Given the description of an element on the screen output the (x, y) to click on. 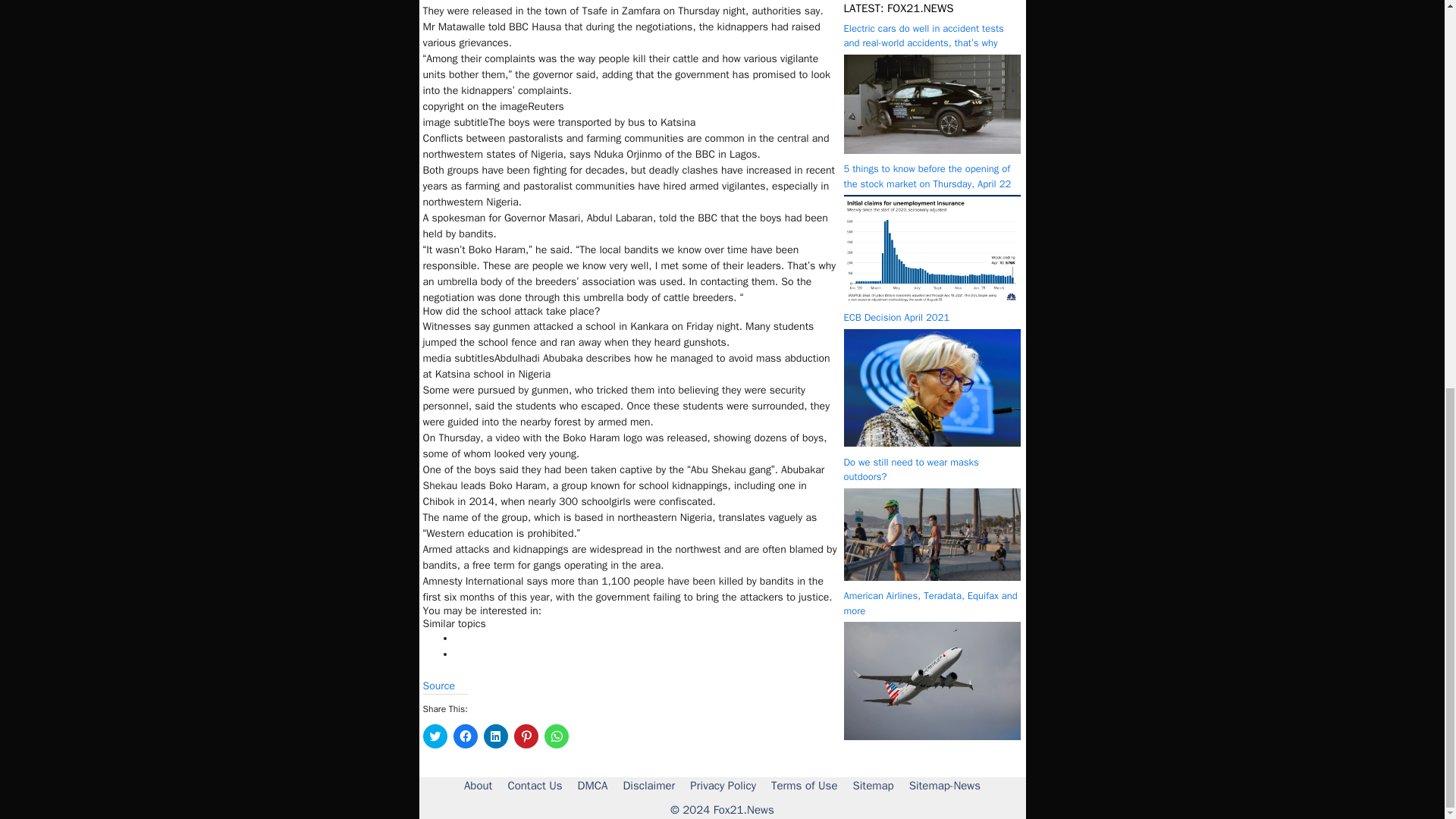
Scroll back to top (1406, 802)
Click to share on LinkedIn (495, 735)
American Airlines, Teradata, Equifax and more (931, 43)
Source (439, 685)
Click to share on Twitter (434, 735)
Click to share on WhatsApp (556, 735)
Click to share on Pinterest (525, 735)
Click to share on Facebook (464, 735)
